Given the description of an element on the screen output the (x, y) to click on. 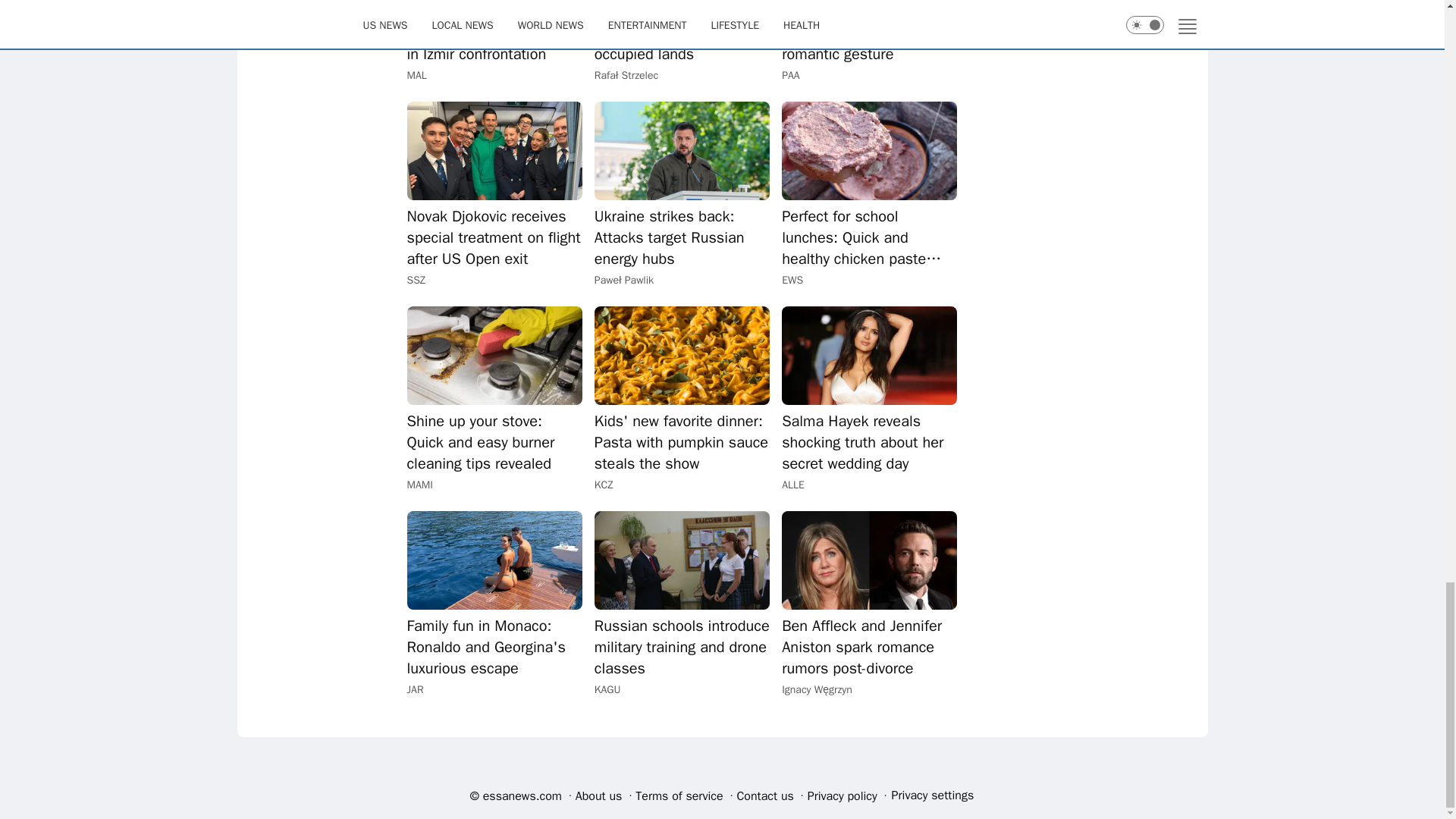
Ukraine strikes back: Attacks target Russian energy hubs (682, 238)
Richard Gere steals Venice spotlight with romantic gesture (868, 33)
